Given the description of an element on the screen output the (x, y) to click on. 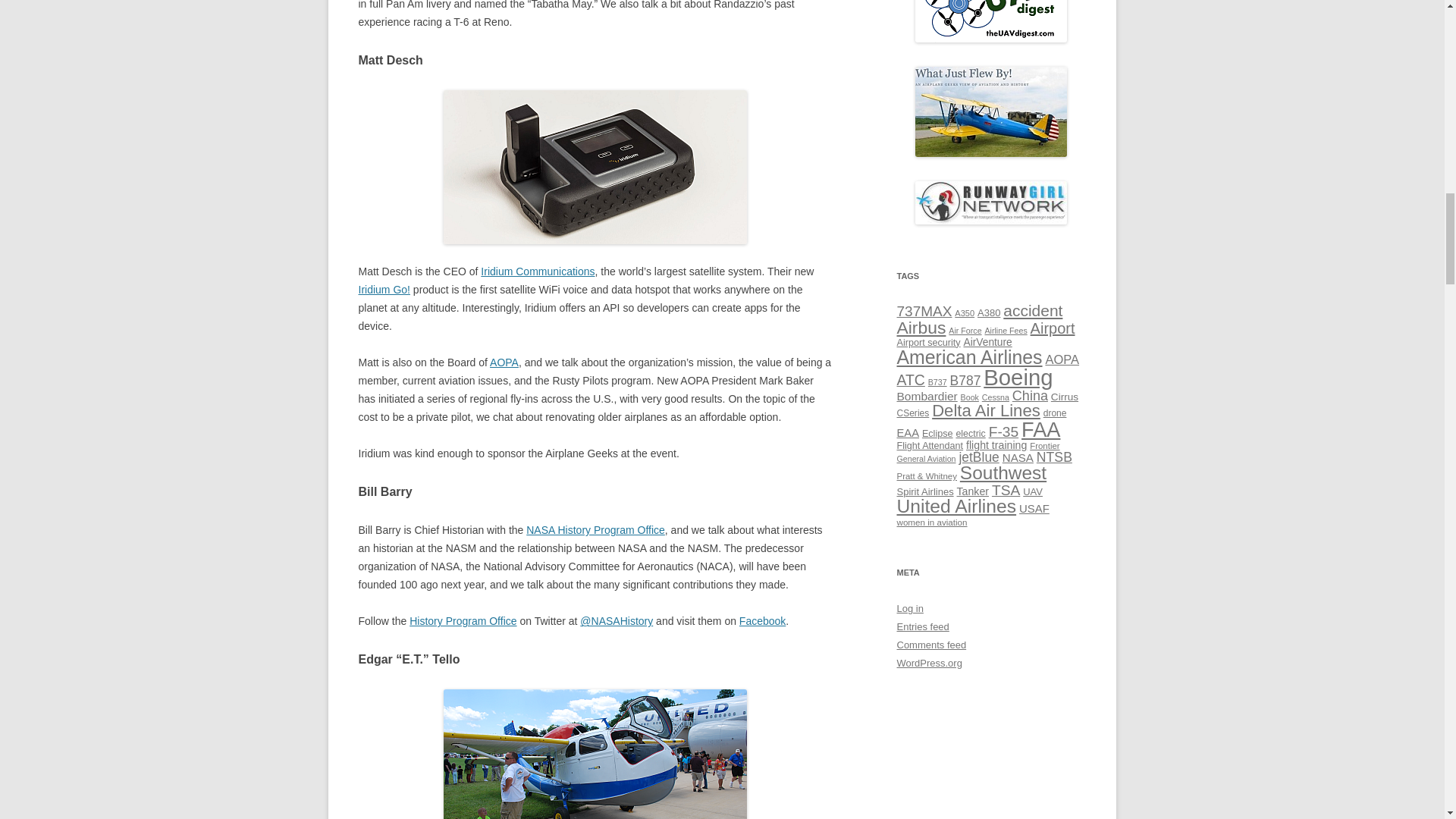
Facebook (762, 621)
History Program Office (462, 621)
Iridium Communications (537, 271)
AOPA (503, 362)
Iridium Go! (383, 289)
NASA History Program Office (595, 530)
